Given the description of an element on the screen output the (x, y) to click on. 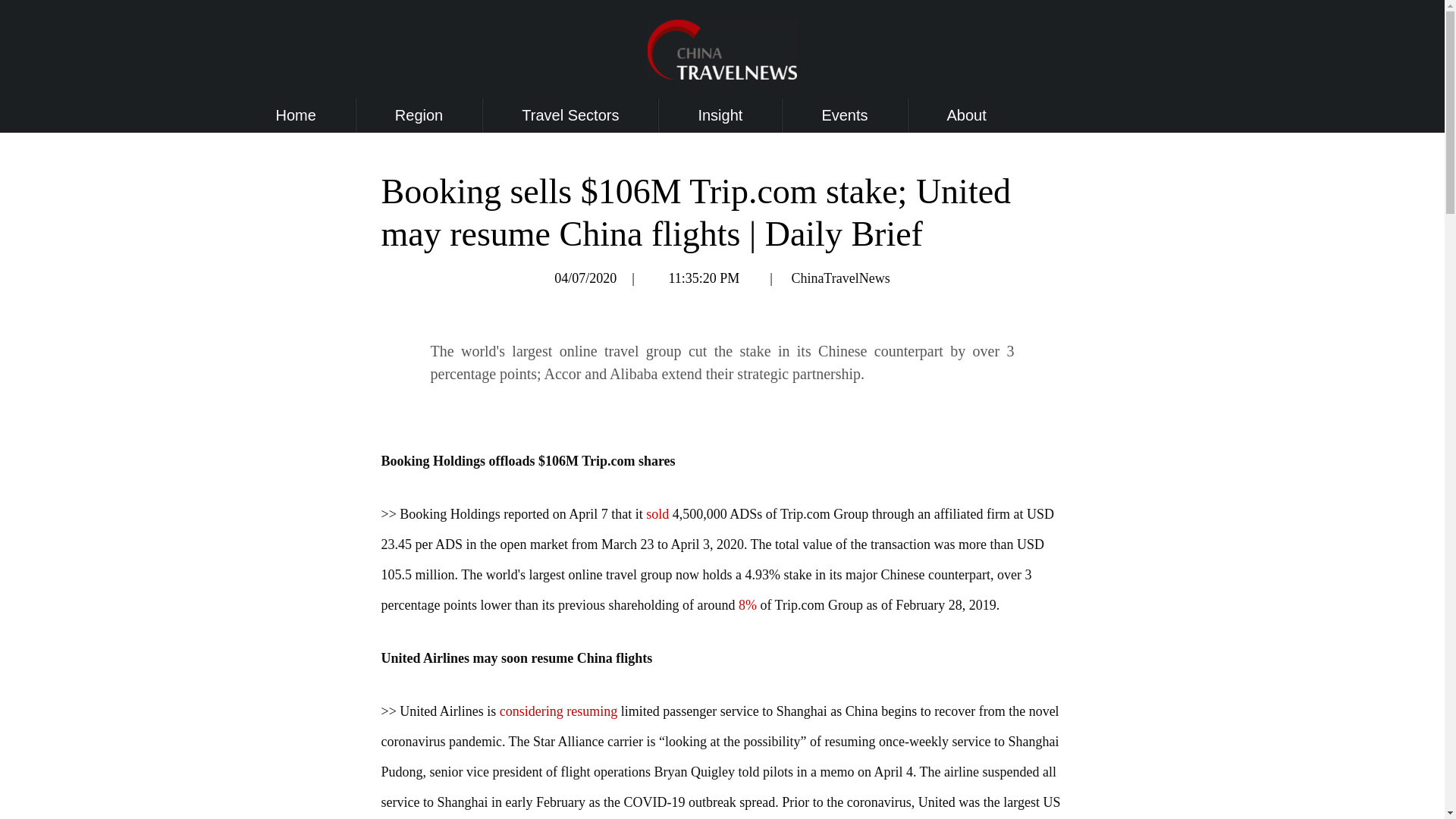
Home (295, 115)
considering resuming (558, 711)
sold (657, 513)
ChinaTravelNews (839, 278)
About (967, 115)
Events (844, 115)
